Given the description of an element on the screen output the (x, y) to click on. 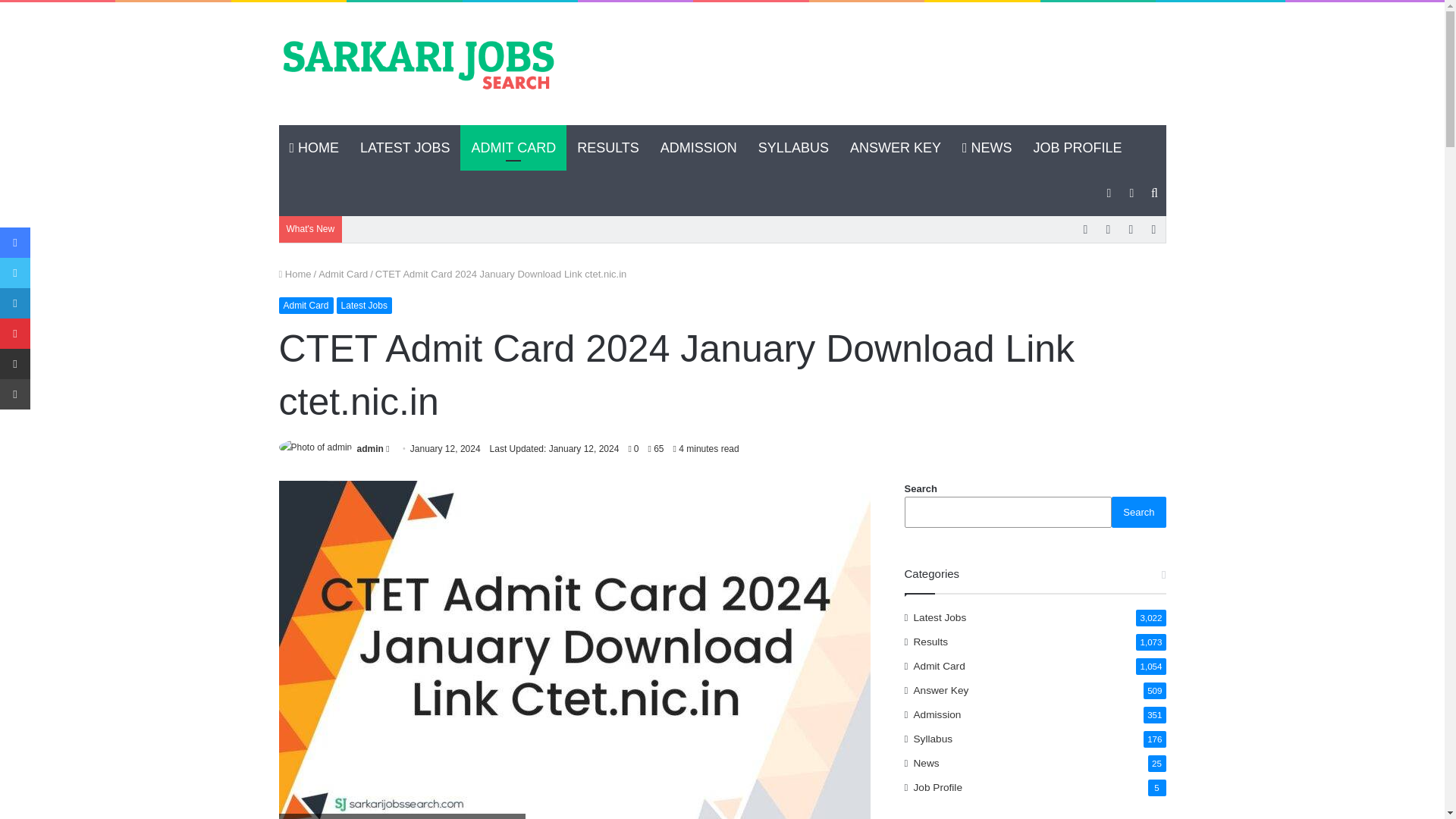
admin (370, 448)
Admit Card (306, 305)
SarkariJobsSearch (419, 63)
NEWS (987, 147)
Latest Jobs (363, 305)
SYLLABUS (794, 147)
LATEST JOBS (404, 147)
Home (295, 274)
admin (370, 448)
ADMISSION (698, 147)
ANSWER KEY (896, 147)
JOB PROFILE (1077, 147)
HOME (314, 147)
RESULTS (607, 147)
